Given the description of an element on the screen output the (x, y) to click on. 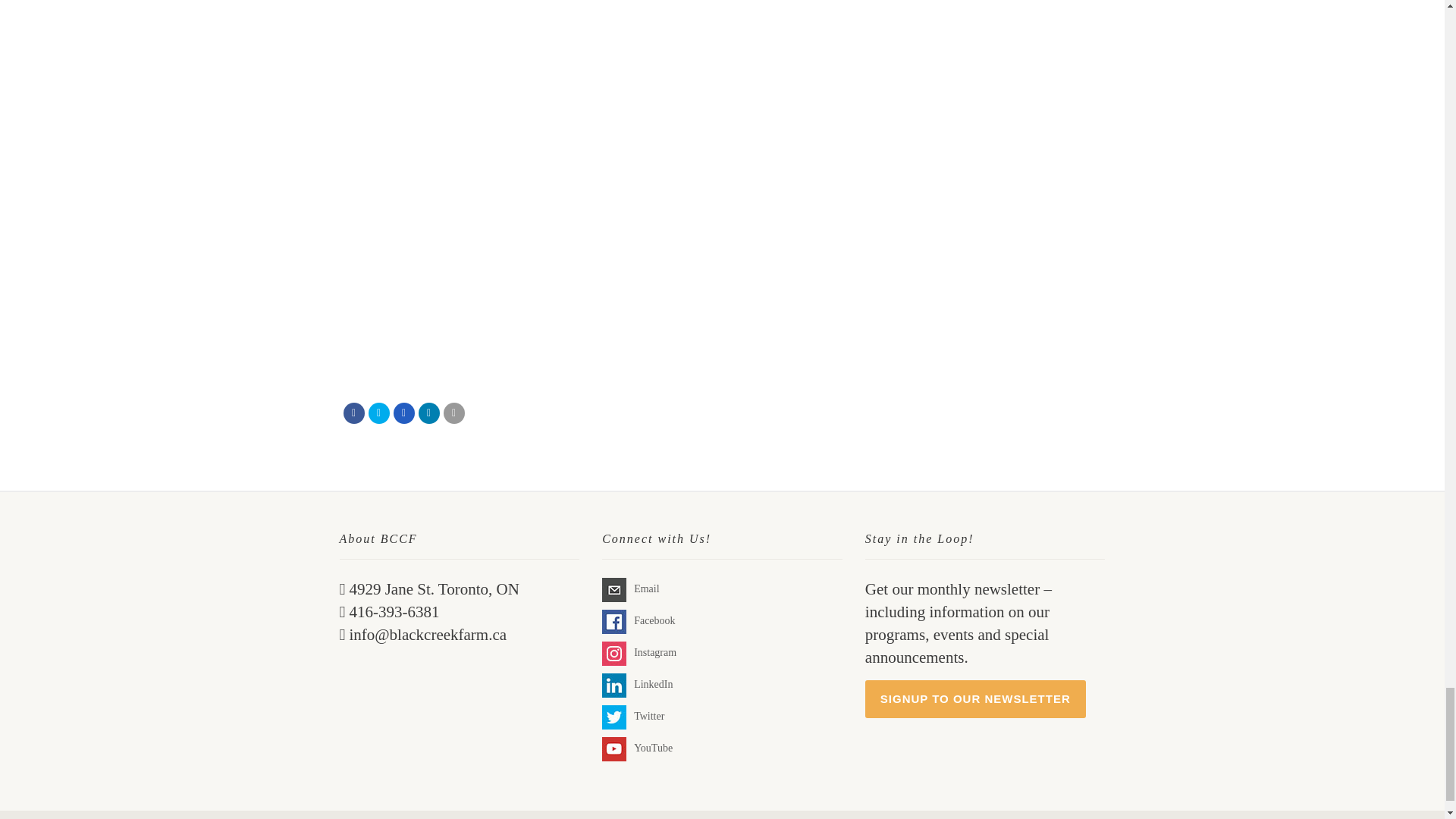
Share on Facebook (353, 413)
Email (453, 413)
Facebook (614, 621)
Share on Linkedin (429, 413)
Instagram (614, 653)
Email (614, 589)
Tweet (379, 413)
